Given the description of an element on the screen output the (x, y) to click on. 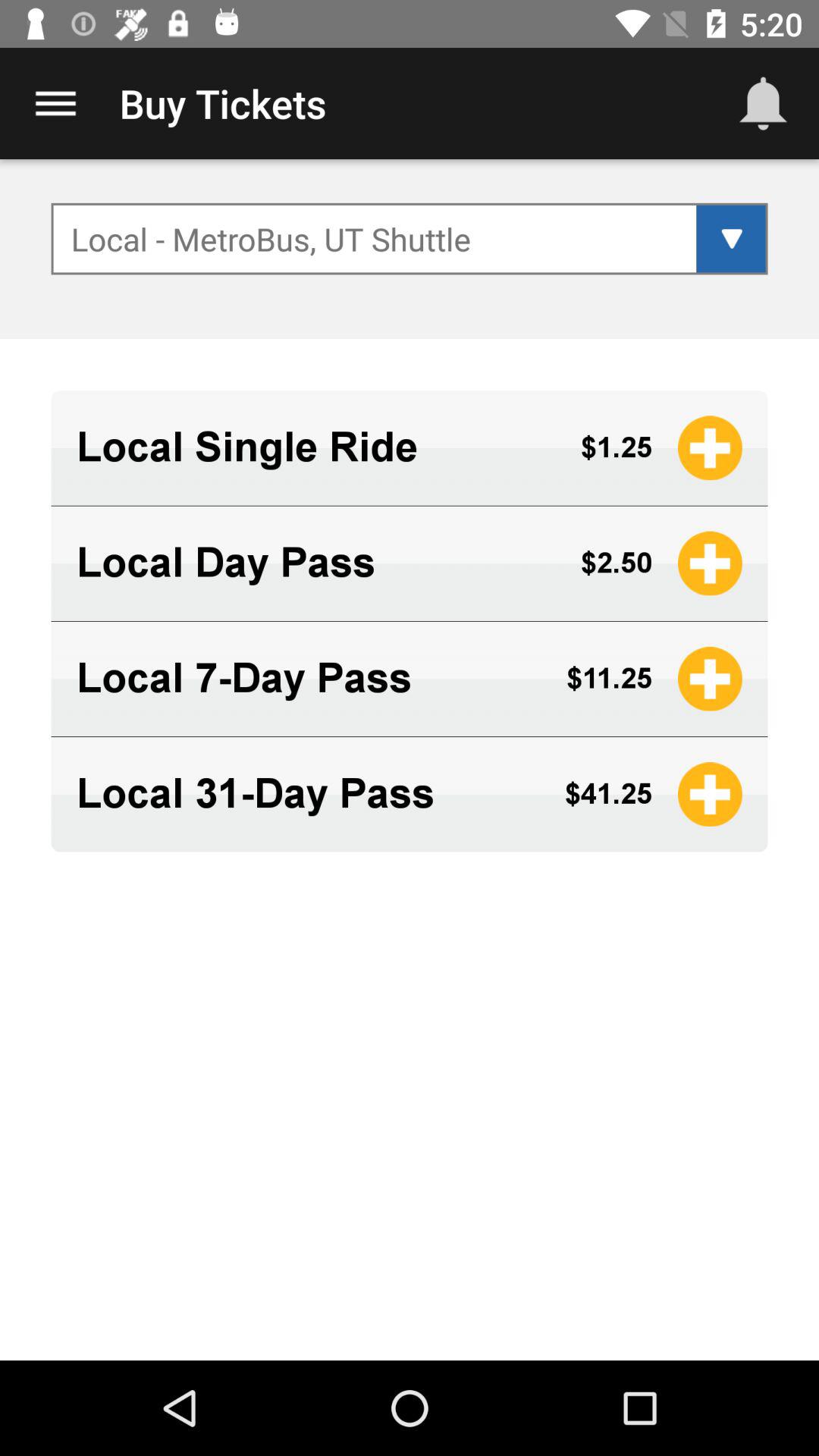
click icon above the local metrobus ut item (763, 103)
